Given the description of an element on the screen output the (x, y) to click on. 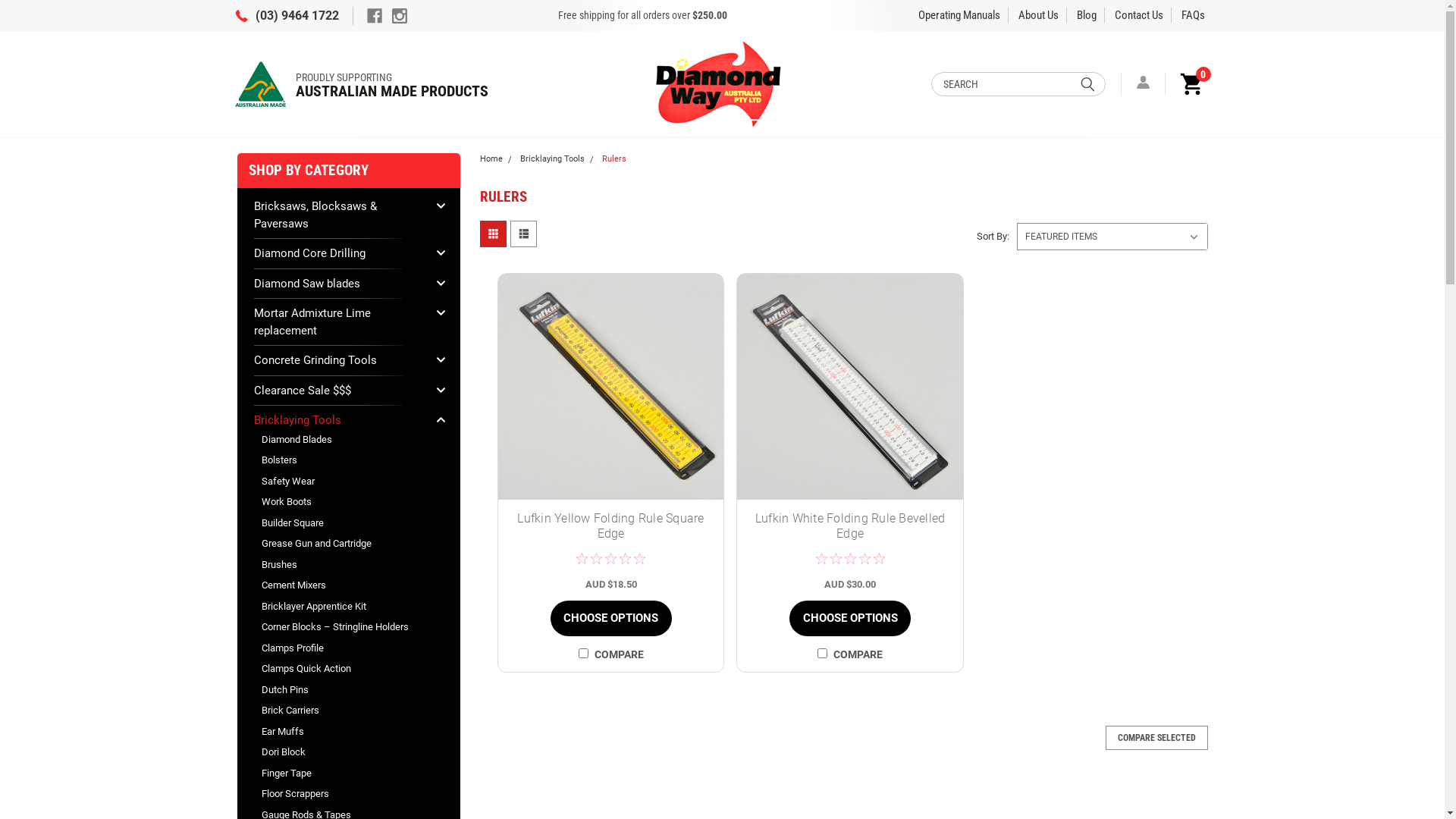
submit Element type: hover (1087, 83)
Home Element type: text (490, 158)
Diamond Saw blades Element type: text (339, 282)
Clearance Sale $$$ Element type: text (339, 390)
Contact Us Element type: text (1138, 14)
Cement Mixers Element type: text (339, 585)
Diamond Way Online Element type: hover (720, 83)
Diamond Core Drilling Element type: text (339, 253)
Finger Tape Element type: text (339, 773)
Lufkin Yellow Folding Rule Square Edge Element type: text (610, 526)
Lufkin Yellow Folding Rule Square Edge Element type: hover (611, 386)
Dutch Pins Element type: text (339, 689)
CHOOSE OPTIONS Element type: text (849, 618)
Clamps Profile Element type: text (339, 647)
Safety Wear Element type: text (339, 480)
COMPARE SELECTED Element type: text (1156, 737)
Ear Muffs Element type: text (339, 730)
Lufkin White Folding Rule Bevelled Edge Element type: text (849, 526)
Floor Scrappers Element type: text (339, 793)
Lufkin White Folding Rule Bevelled Edge  Element type: hover (850, 386)
About Us Element type: text (1038, 14)
Work Boots Element type: text (339, 501)
Bricksaws, Blocksaws & Paversaws Element type: text (339, 214)
Dori Block Element type: text (339, 751)
Blog Element type: text (1086, 14)
Mortar Admixture Lime replacement Element type: text (339, 321)
Clamps Quick Action Element type: text (339, 668)
Brushes Element type: text (339, 563)
0 Element type: text (1189, 82)
Bolsters Element type: text (339, 459)
FAQs Element type: text (1192, 14)
Diamond Blades Element type: text (339, 439)
Bricklaying Tools Element type: text (339, 420)
CHOOSE OPTIONS Element type: text (610, 618)
Operating Manuals Element type: text (959, 14)
Bricklayer Apprentice Kit Element type: text (339, 606)
Builder Square Element type: text (339, 522)
Rulers Element type: text (614, 158)
Brick Carriers Element type: text (339, 710)
Grease Gun and Cartridge Element type: text (339, 543)
Concrete Grinding Tools Element type: text (339, 360)
Bricklaying Tools Element type: text (552, 158)
